Given the description of an element on the screen output the (x, y) to click on. 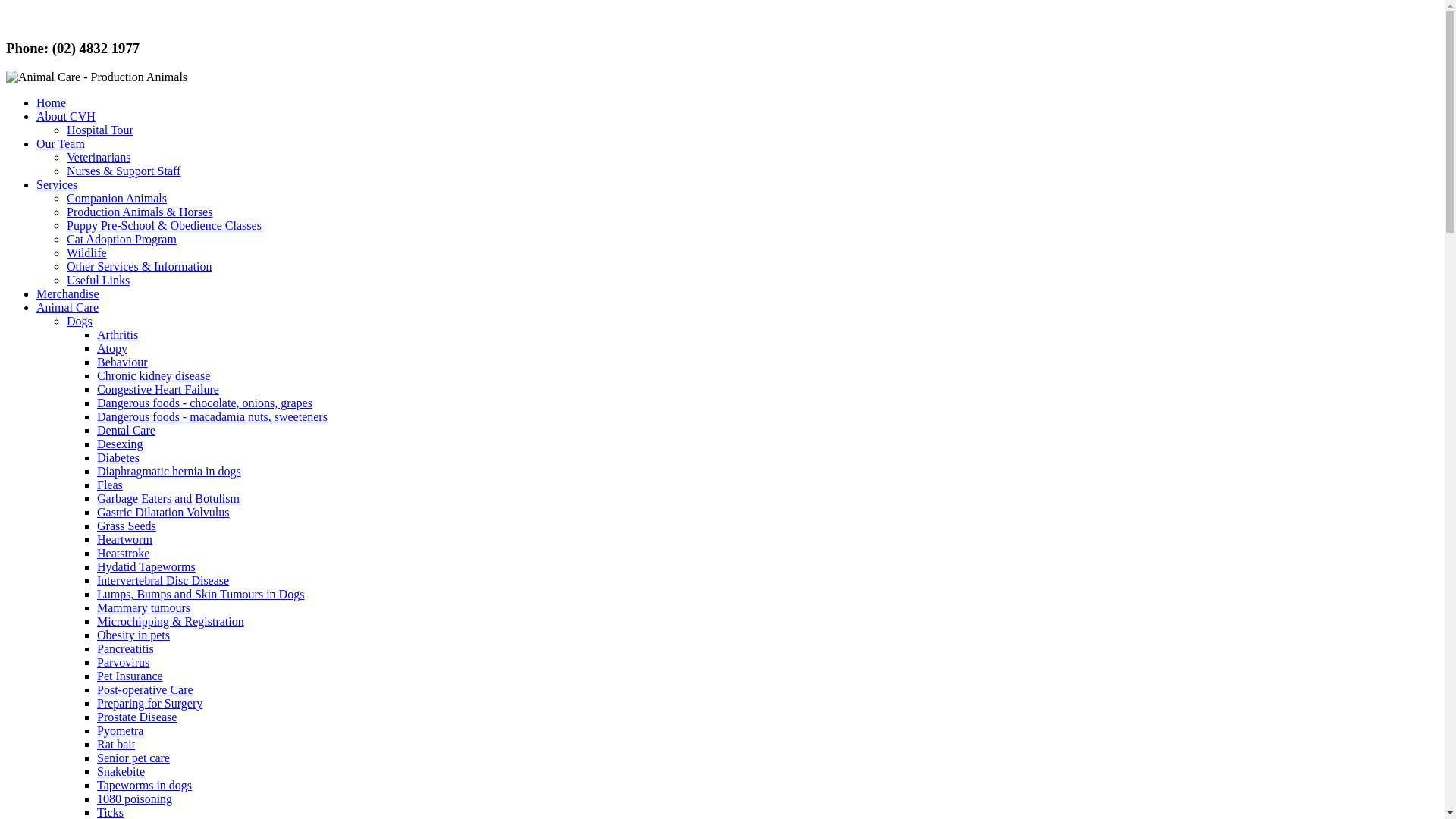
Nurses & Support Staff Element type: text (123, 170)
Obesity in pets Element type: text (133, 634)
Parvovirus Element type: text (123, 661)
Diaphragmatic hernia in dogs Element type: text (169, 470)
Tapeworms in dogs Element type: text (144, 784)
Senior pet care Element type: text (133, 757)
Dogs Element type: text (79, 320)
Atopy Element type: text (112, 348)
Hydatid Tapeworms Element type: text (146, 566)
Snakebite Element type: text (120, 771)
Other Services & Information Element type: text (139, 266)
Arthritis Element type: text (117, 334)
Behaviour Element type: text (122, 361)
Hospital Tour Element type: text (99, 129)
Mammary tumours Element type: text (143, 607)
Dangerous foods - macadamia nuts, sweeteners Element type: text (212, 416)
Pyometra Element type: text (120, 730)
About CVH Element type: text (65, 115)
Useful Links Element type: text (97, 279)
Chronic kidney disease Element type: text (153, 375)
Puppy Pre-School & Obedience Classes Element type: text (163, 225)
Animal Care Element type: text (67, 307)
Cat Adoption Program Element type: text (121, 238)
Desexing Element type: text (119, 443)
Home Element type: text (50, 102)
Wildlife Element type: text (86, 252)
Dental Care Element type: text (126, 429)
Diabetes Element type: text (118, 457)
1080 poisoning Element type: text (134, 798)
Preparing for Surgery Element type: text (149, 702)
Congestive Heart Failure Element type: text (158, 388)
Intervertebral Disc Disease Element type: text (163, 580)
Services Element type: text (56, 184)
Our Team Element type: text (60, 143)
Grass Seeds Element type: text (126, 525)
Heatstroke Element type: text (123, 552)
Veterinarians Element type: text (98, 156)
Pancreatitis Element type: text (125, 648)
Merchandise Element type: text (67, 293)
Garbage Eaters and Botulism Element type: text (168, 498)
Gastric Dilatation Volvulus Element type: text (163, 511)
Lumps, Bumps and Skin Tumours in Dogs Element type: text (200, 593)
Prostate Disease Element type: text (136, 716)
Fleas Element type: text (109, 484)
Companion Animals Element type: text (116, 197)
Production Animals & Horses Element type: text (139, 211)
Microchipping & Registration Element type: text (170, 621)
Post-operative Care Element type: text (145, 689)
Pet Insurance Element type: text (130, 675)
Rat bait Element type: text (115, 743)
Dangerous foods - chocolate, onions, grapes Element type: text (204, 402)
Heartworm Element type: text (124, 539)
